Given the description of an element on the screen output the (x, y) to click on. 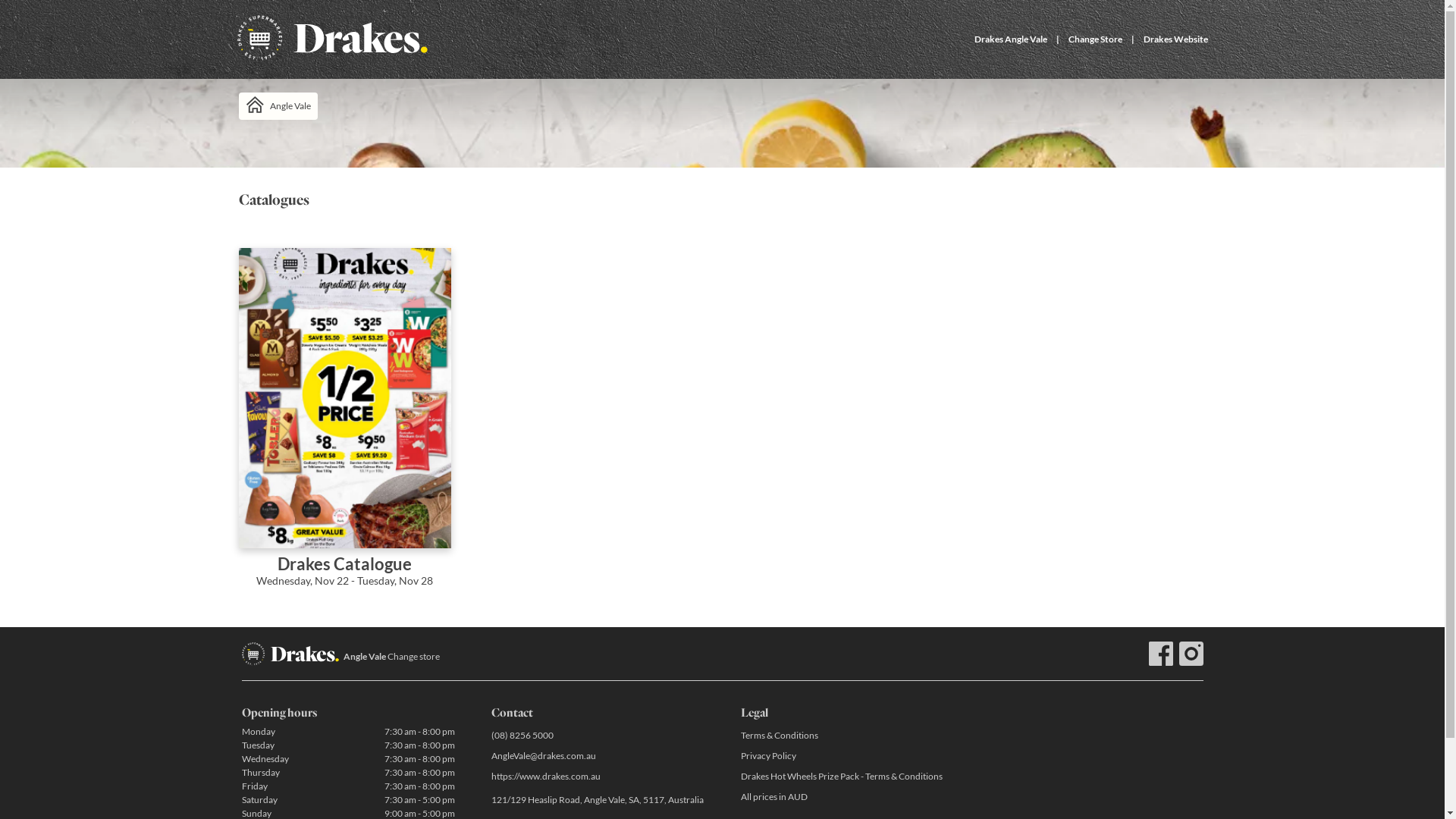
https://www.drakes.com.au Element type: text (597, 775)
Drakes Catalogue
Wednesday, Nov 22 - Tuesday, Nov 28 Element type: text (344, 427)
Facebook Element type: hover (1160, 653)
Terms & Conditions Element type: text (846, 734)
Angle Vale Change store Element type: text (390, 656)
Drakes Website Element type: text (1175, 38)
Change Store Element type: text (1094, 38)
Privacy Policy Element type: text (846, 755)
(08) 8256 5000 Element type: text (597, 734)
AngleVale@drakes.com.au Element type: text (597, 755)
Angle Vale Element type: text (277, 105)
Drakes Hot Wheels Prize Pack - Terms & Conditions Element type: text (846, 775)
121/129 Heaslip Road, Angle Vale, SA, 5117, Australia Element type: text (597, 800)
Instagram drakessupermarkets Element type: hover (1190, 653)
